Given the description of an element on the screen output the (x, y) to click on. 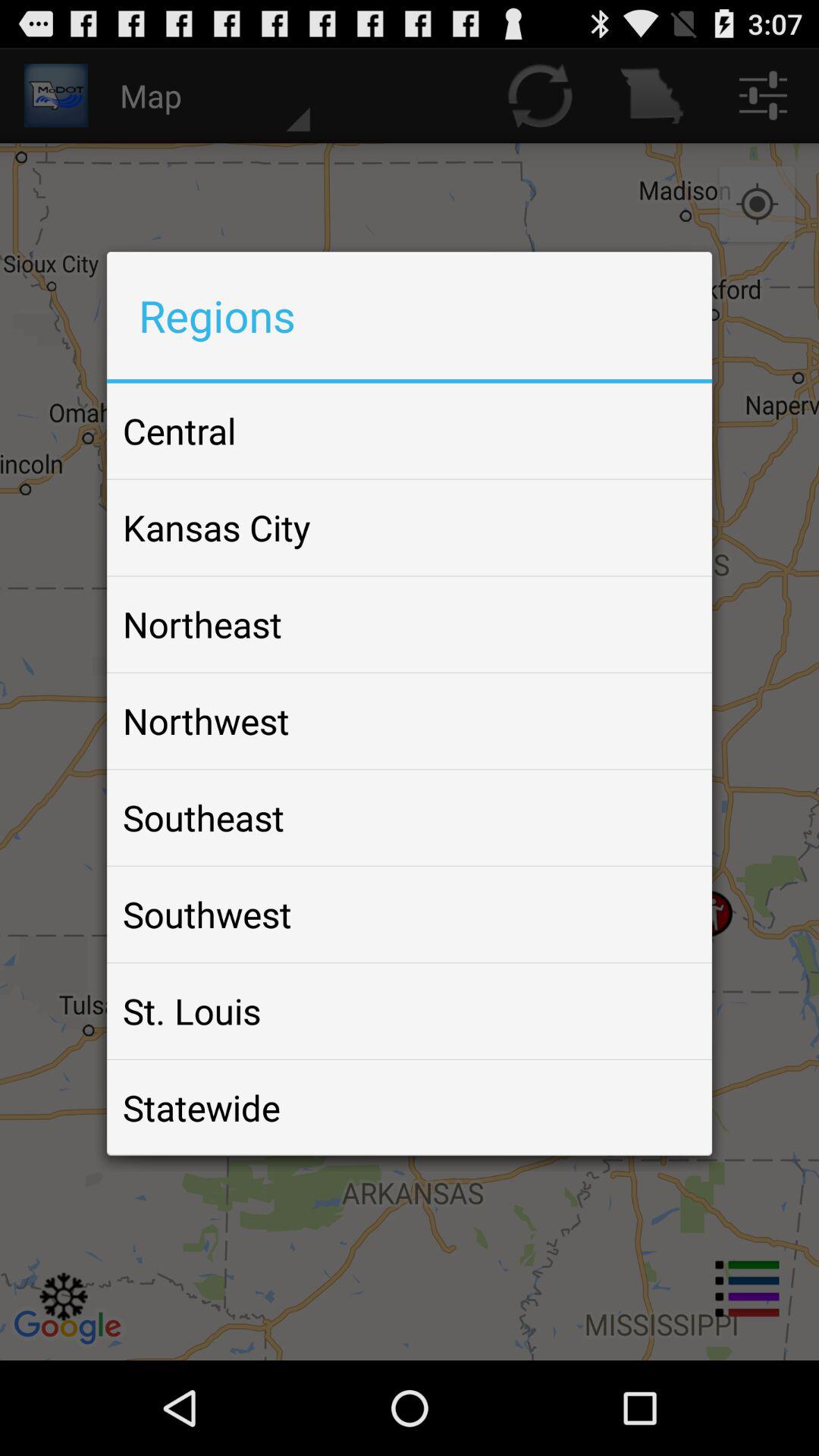
press item to the right of kansas city (664, 527)
